Given the description of an element on the screen output the (x, y) to click on. 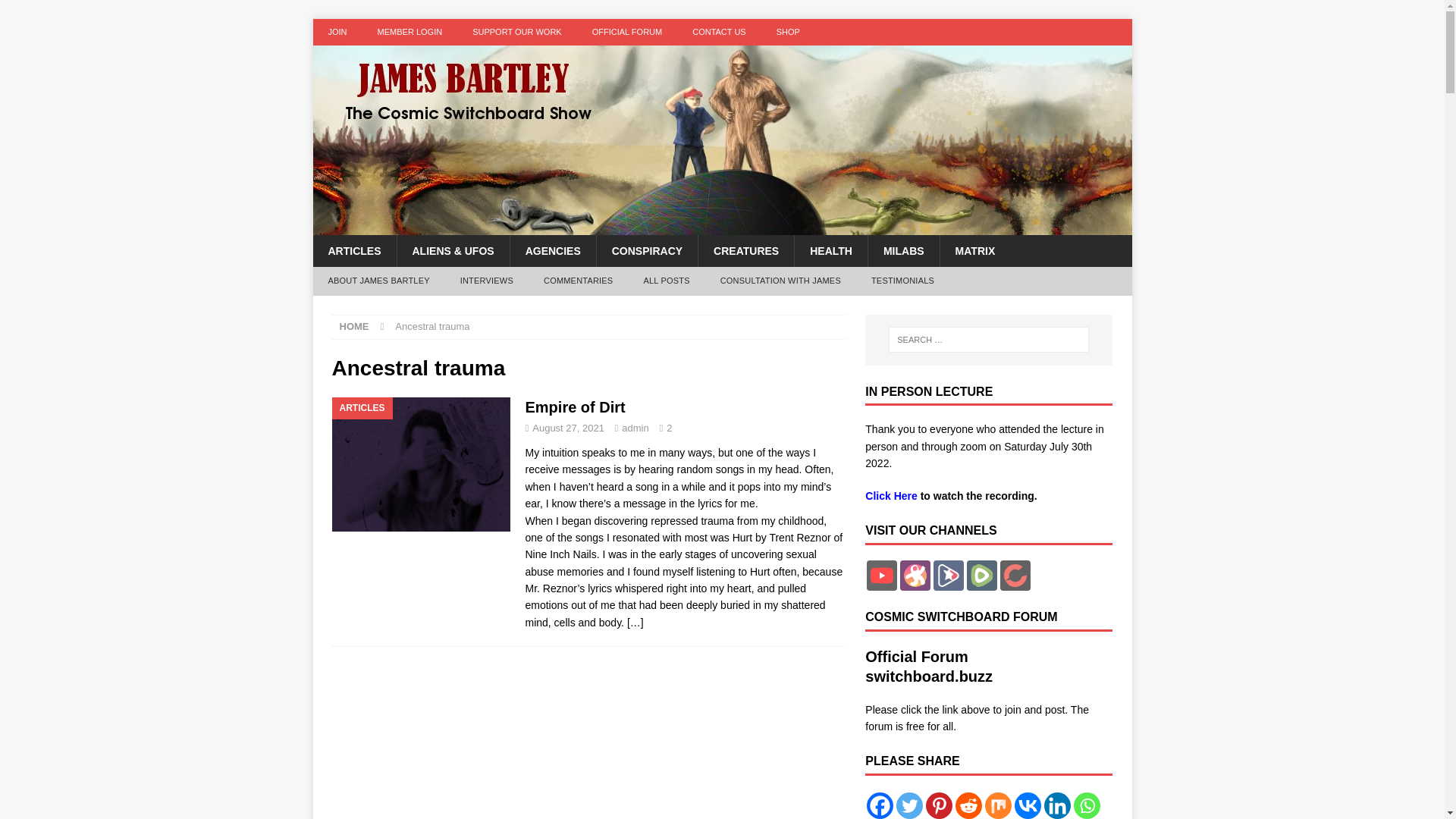
ALL POSTS (665, 280)
JOIN (337, 31)
HOME (354, 326)
Linkedin (1056, 805)
Empire of Dirt (574, 406)
ABOUT JAMES BARTLEY (378, 280)
Whatsapp (1087, 805)
AGENCIES (552, 250)
Pinterest (939, 805)
Facebook (879, 805)
SHOP (788, 31)
INTERVIEWS (486, 280)
MEMBER LOGIN (410, 31)
The Cosmic Switchboard (722, 226)
Mix (998, 805)
